Given the description of an element on the screen output the (x, y) to click on. 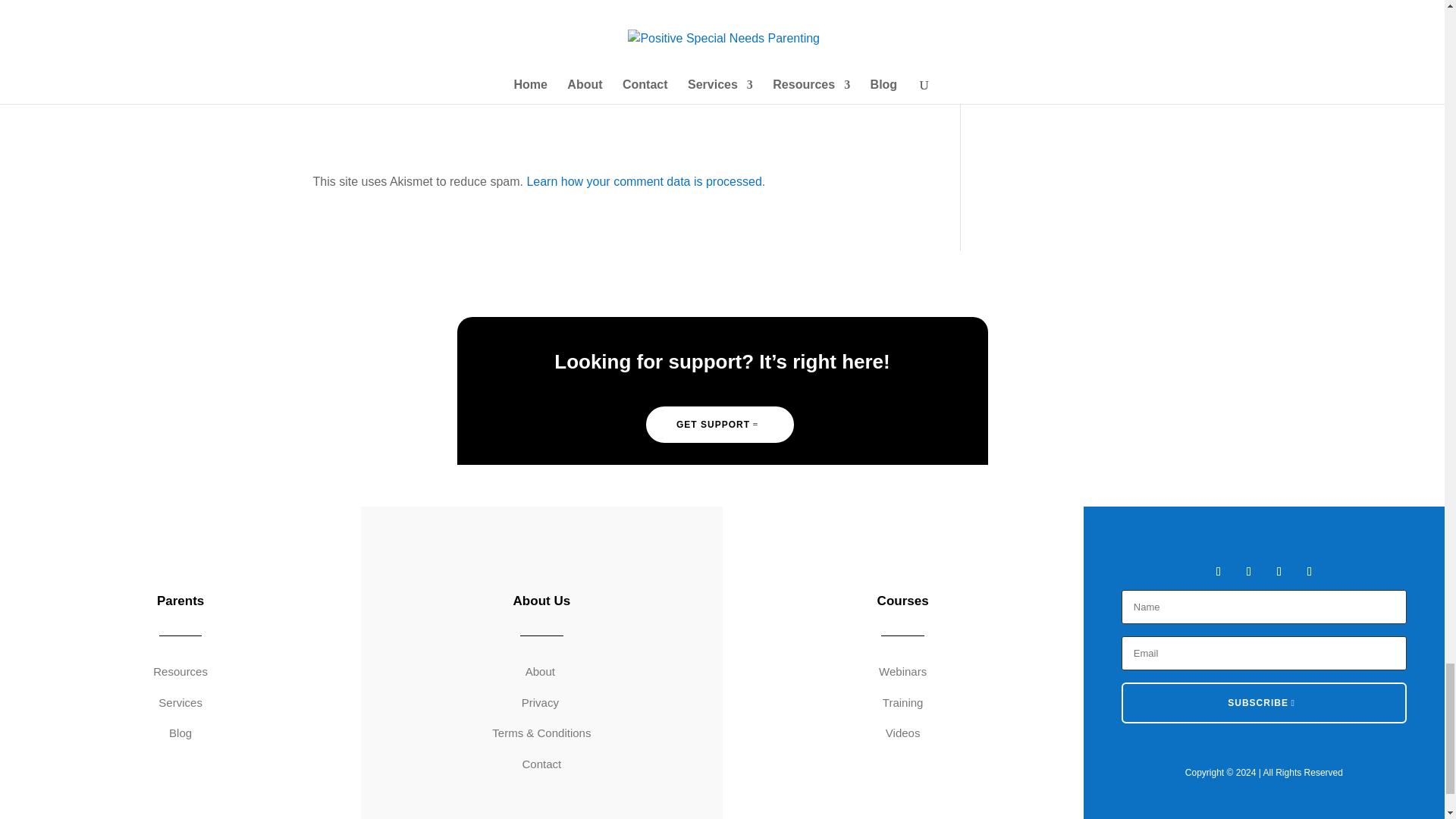
Follow on Instagram (1278, 571)
Follow on Twitter (1248, 571)
Follow on Facebook (1218, 571)
Submit Comment (840, 101)
Follow on Pinterest (1309, 571)
subscribe (319, 45)
